Given the description of an element on the screen output the (x, y) to click on. 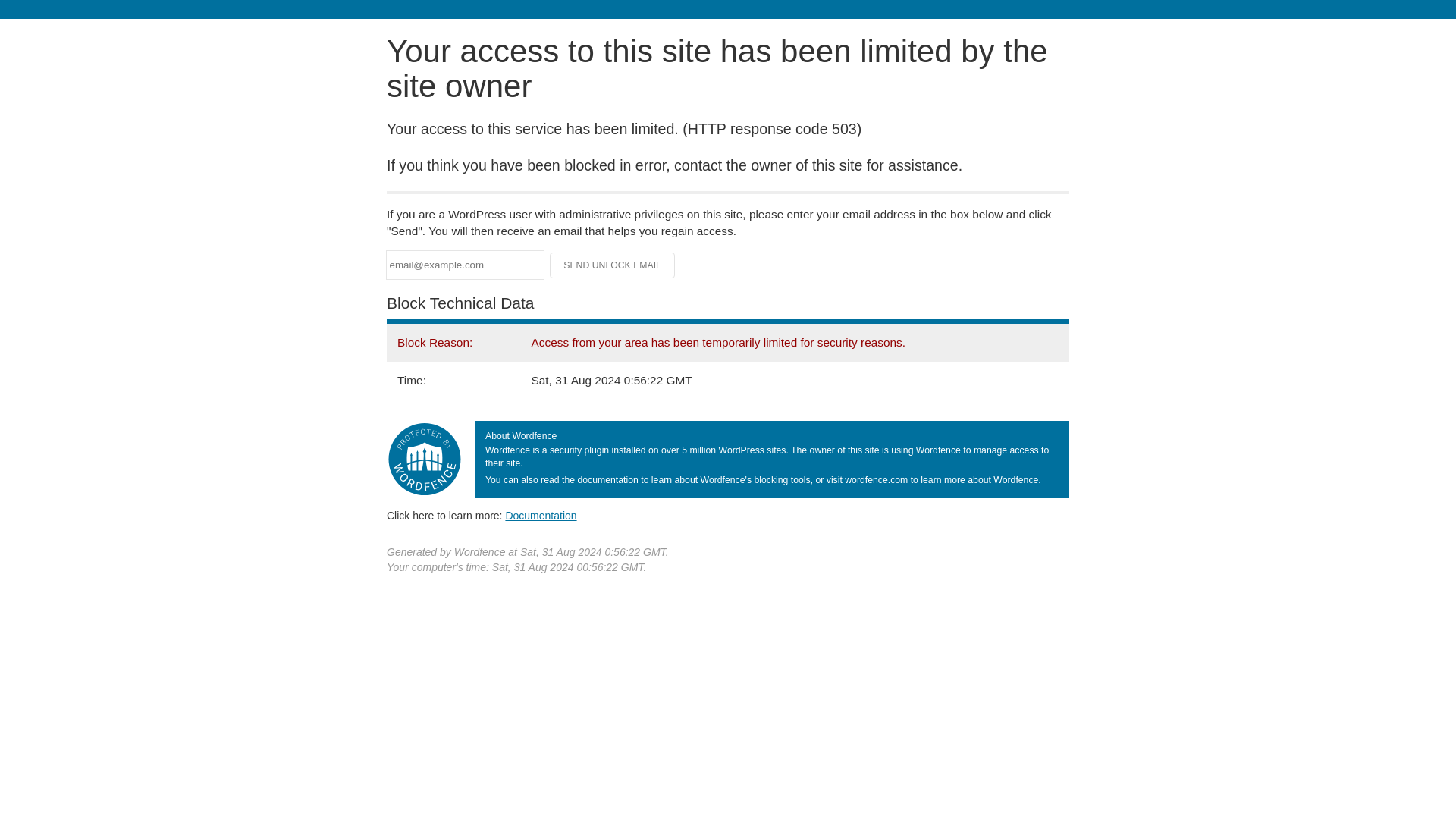
Send Unlock Email (612, 265)
Send Unlock Email (612, 265)
Documentation (540, 515)
